Given the description of an element on the screen output the (x, y) to click on. 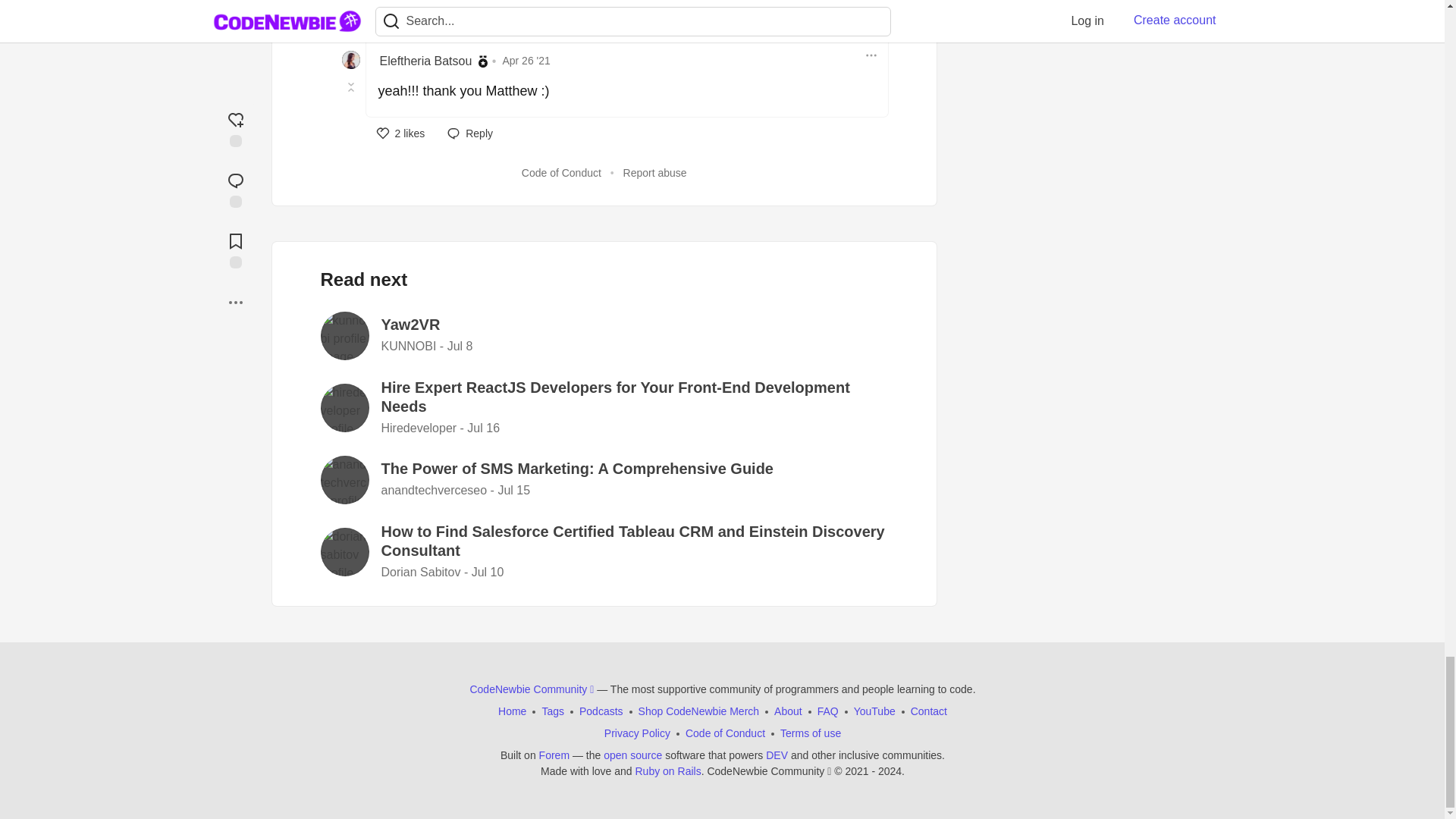
Dropdown menu (870, 54)
Monday, April 26, 2021 at 8:59:57 PM (526, 60)
